Given the description of an element on the screen output the (x, y) to click on. 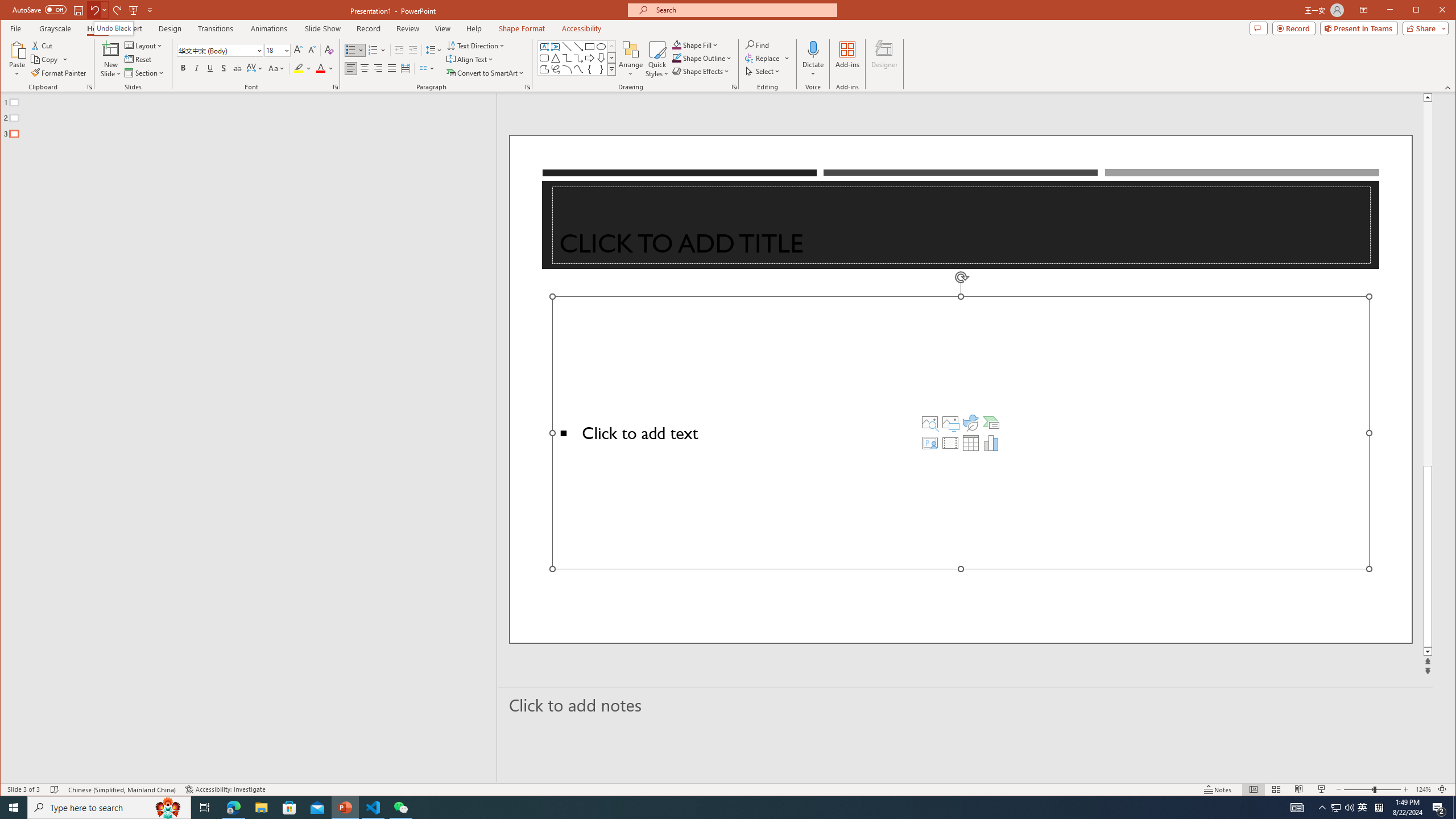
WeChat - 1 running window (400, 807)
Type here to search (108, 807)
Bold (182, 68)
Zoom 124% (1422, 789)
Insert an Icon (970, 422)
Font (215, 50)
Section (144, 72)
Tray Input Indicator - Chinese (Simplified, China) (1378, 807)
Task View (204, 807)
Format Painter (59, 72)
Italic (196, 68)
Reset (138, 59)
